Given the description of an element on the screen output the (x, y) to click on. 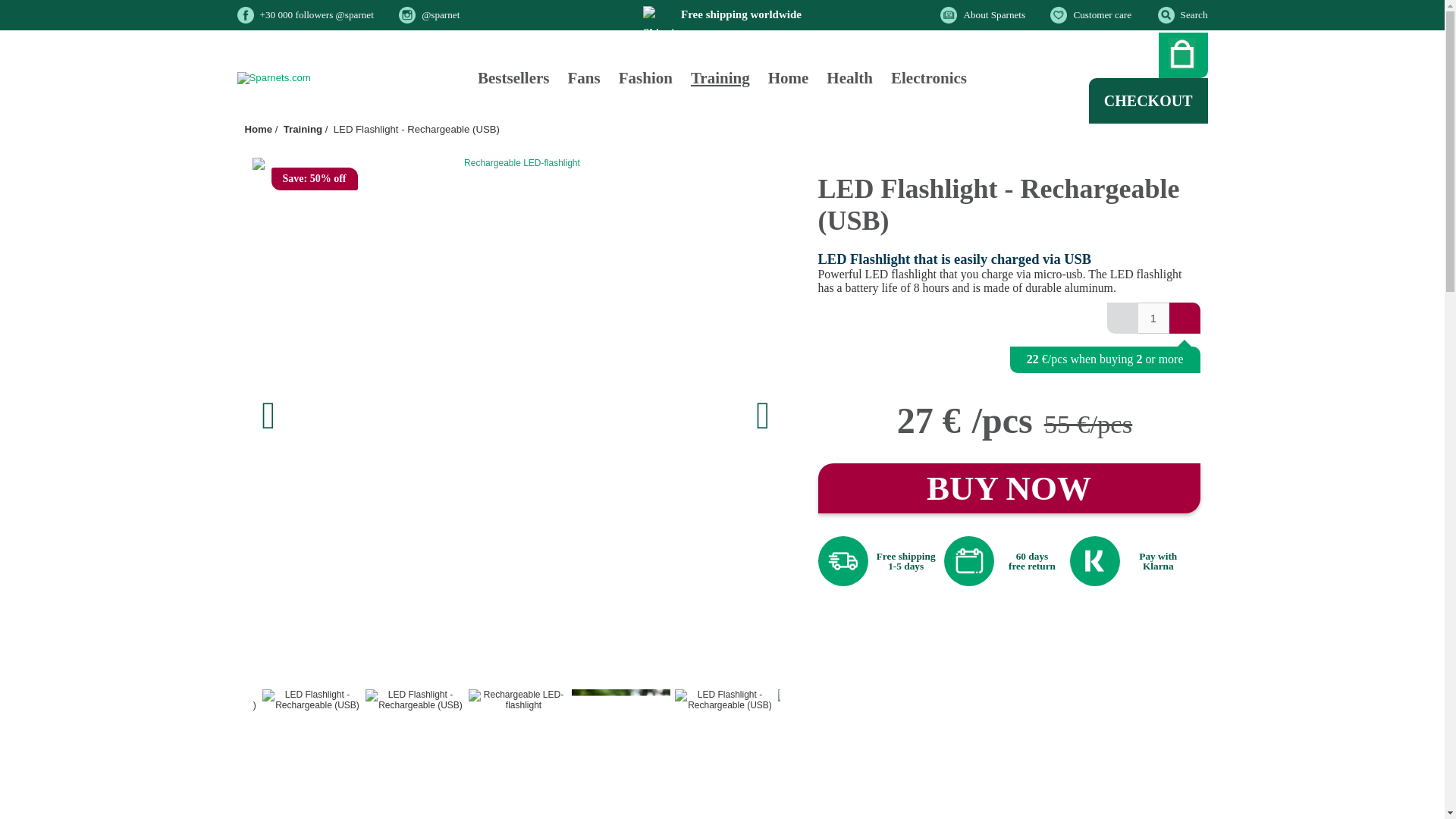
Home (258, 129)
Bestsellers (512, 77)
Home (788, 77)
About Sparnets (993, 14)
Health (849, 77)
Electronics (928, 77)
Customer care (1102, 14)
Fashion (645, 77)
CHECKOUT (1147, 100)
